Given the description of an element on the screen output the (x, y) to click on. 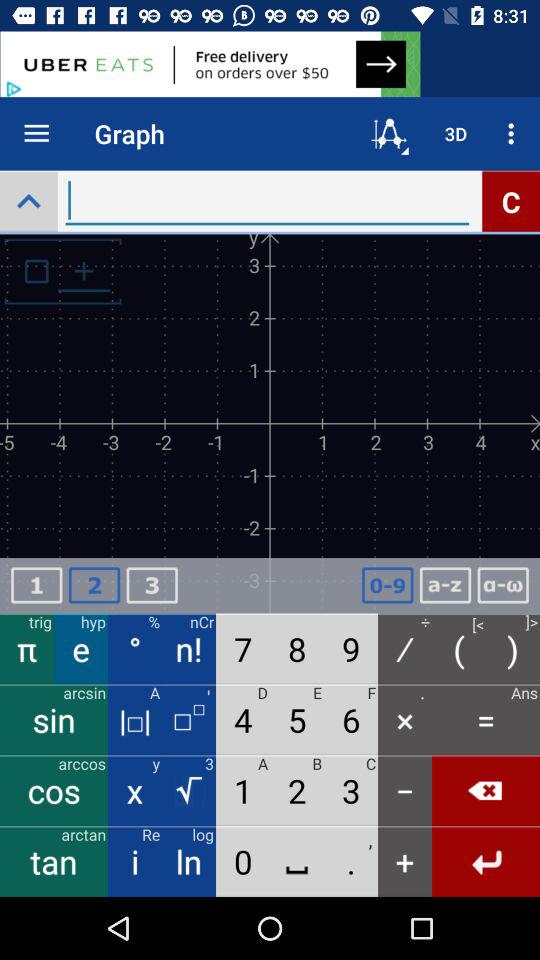
numeric box option (152, 585)
